Given the description of an element on the screen output the (x, y) to click on. 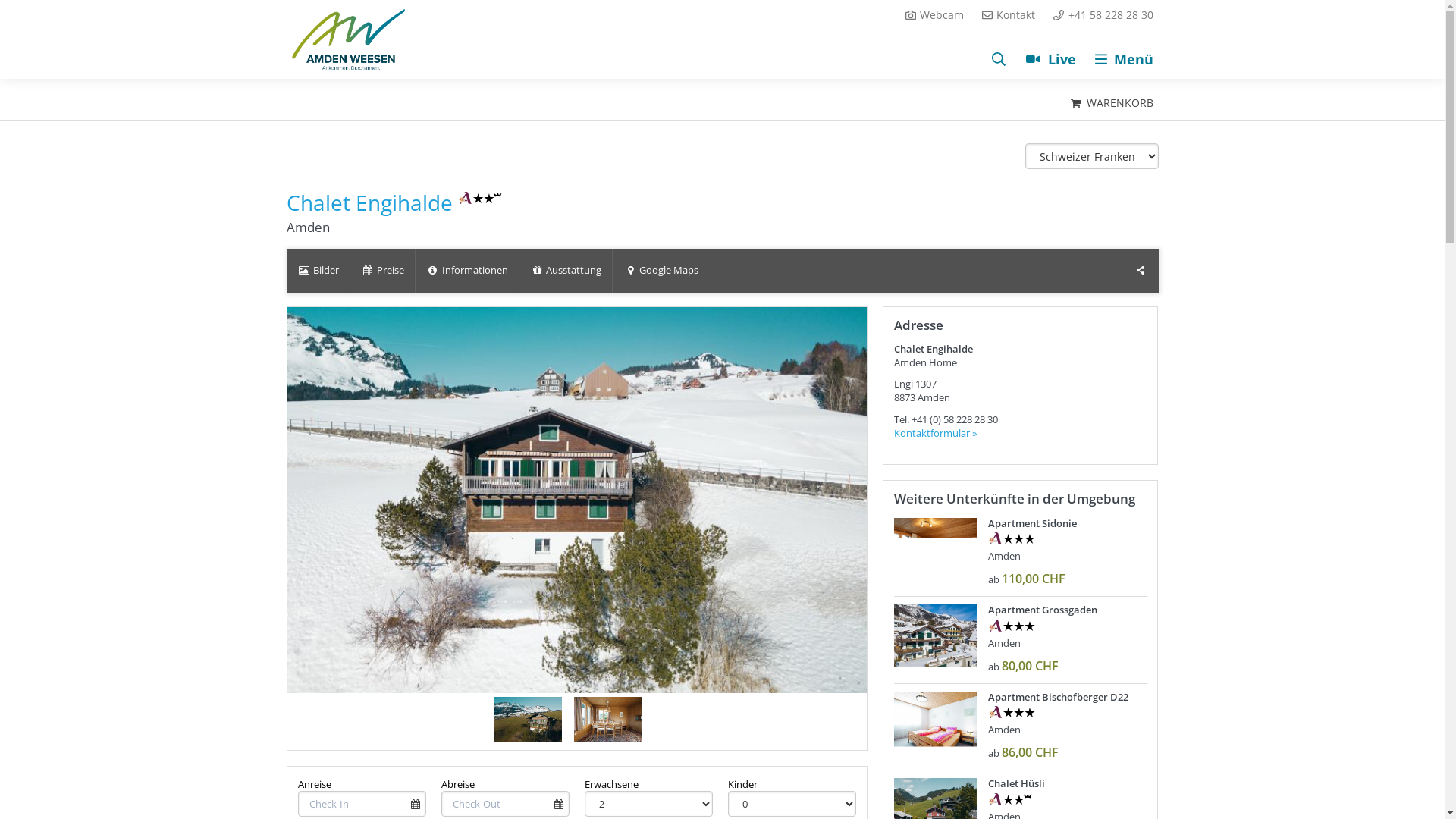
Ausstattung Element type: text (565, 270)
Preise Element type: text (382, 270)
Webcam Element type: text (934, 15)
Teilen Element type: hover (1140, 270)
Kontakt Element type: text (1008, 15)
Informationen Element type: text (466, 270)
Apartment Bischofberger D22
Amden
ab 86,00 CHF Element type: text (1020, 722)
Apartment Sidonie
Amden
ab 110,00 CHF Element type: text (1020, 552)
Apartment Grossgaden
Amden
ab 80,00 CHF Element type: text (1020, 635)
+41 58 228 28 30 Element type: text (1096, 66)
tourismus@amden.ch Element type: text (965, 66)
Google Maps Element type: text (660, 270)
+41 58 228 28 30 Element type: text (1102, 15)
+41 (0) 58 228 28 30 Element type: text (954, 419)
WARENKORB Element type: text (1110, 102)
Bilder Element type: text (317, 270)
